Given the description of an element on the screen output the (x, y) to click on. 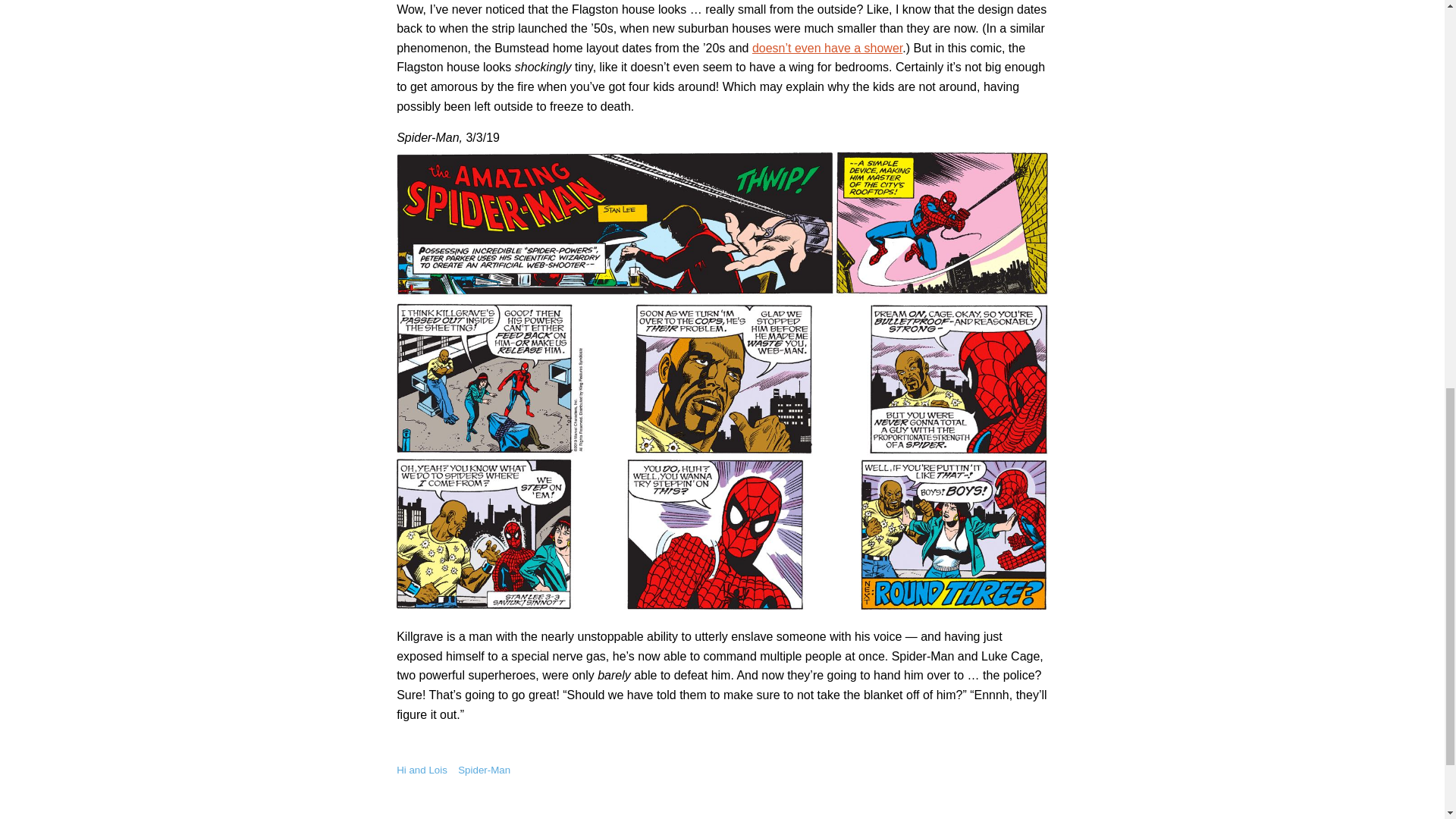
Spider-Man (484, 769)
Hi and Lois (421, 769)
